Given the description of an element on the screen output the (x, y) to click on. 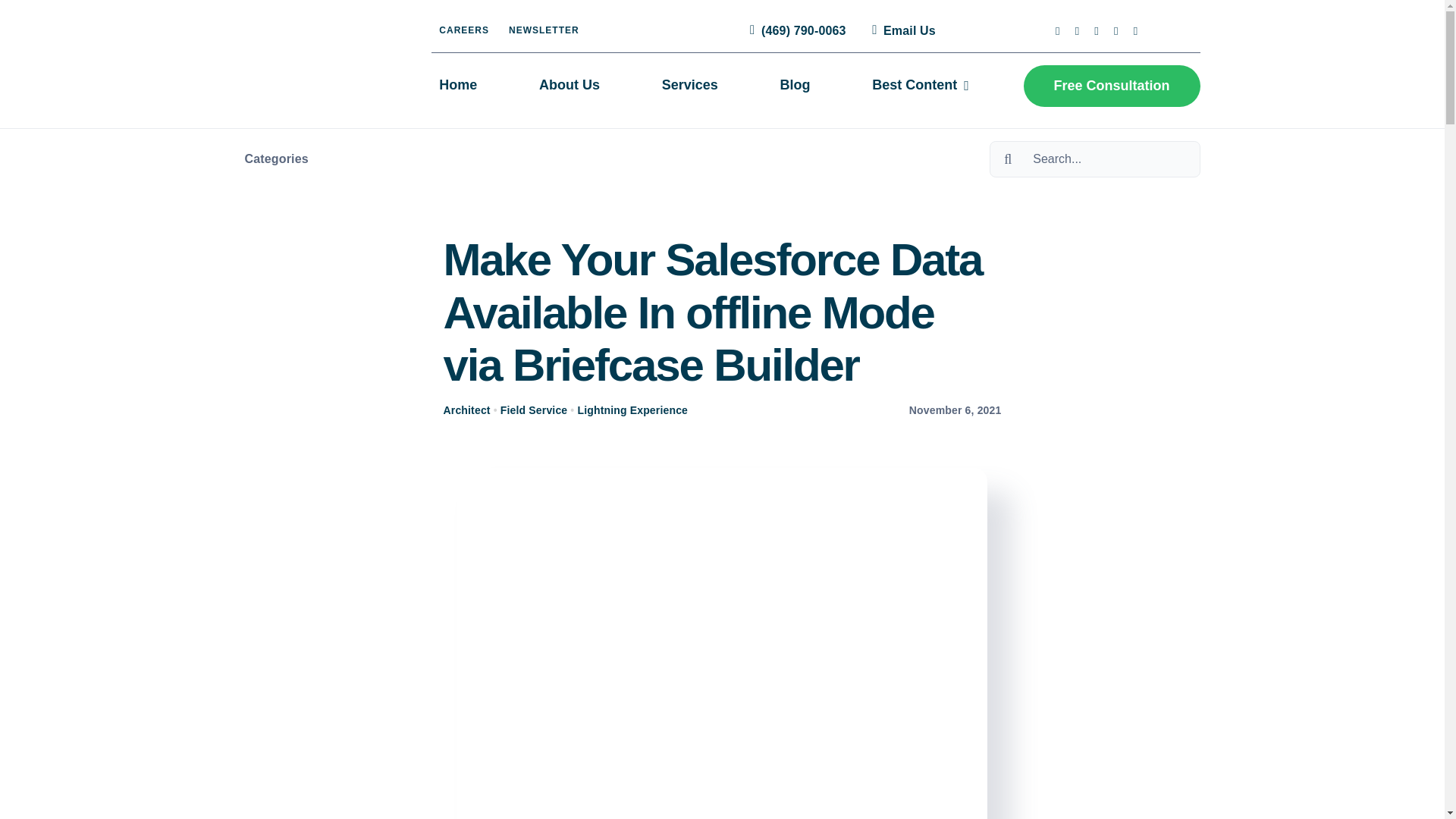
Free Consultation (1111, 86)
Architect (467, 410)
Home (457, 86)
Lightning Experience (631, 410)
Blog (795, 86)
About Us (569, 86)
NEWSLETTER (543, 30)
Email Us (901, 30)
CAREERS (463, 30)
Services (689, 86)
